Given the description of an element on the screen output the (x, y) to click on. 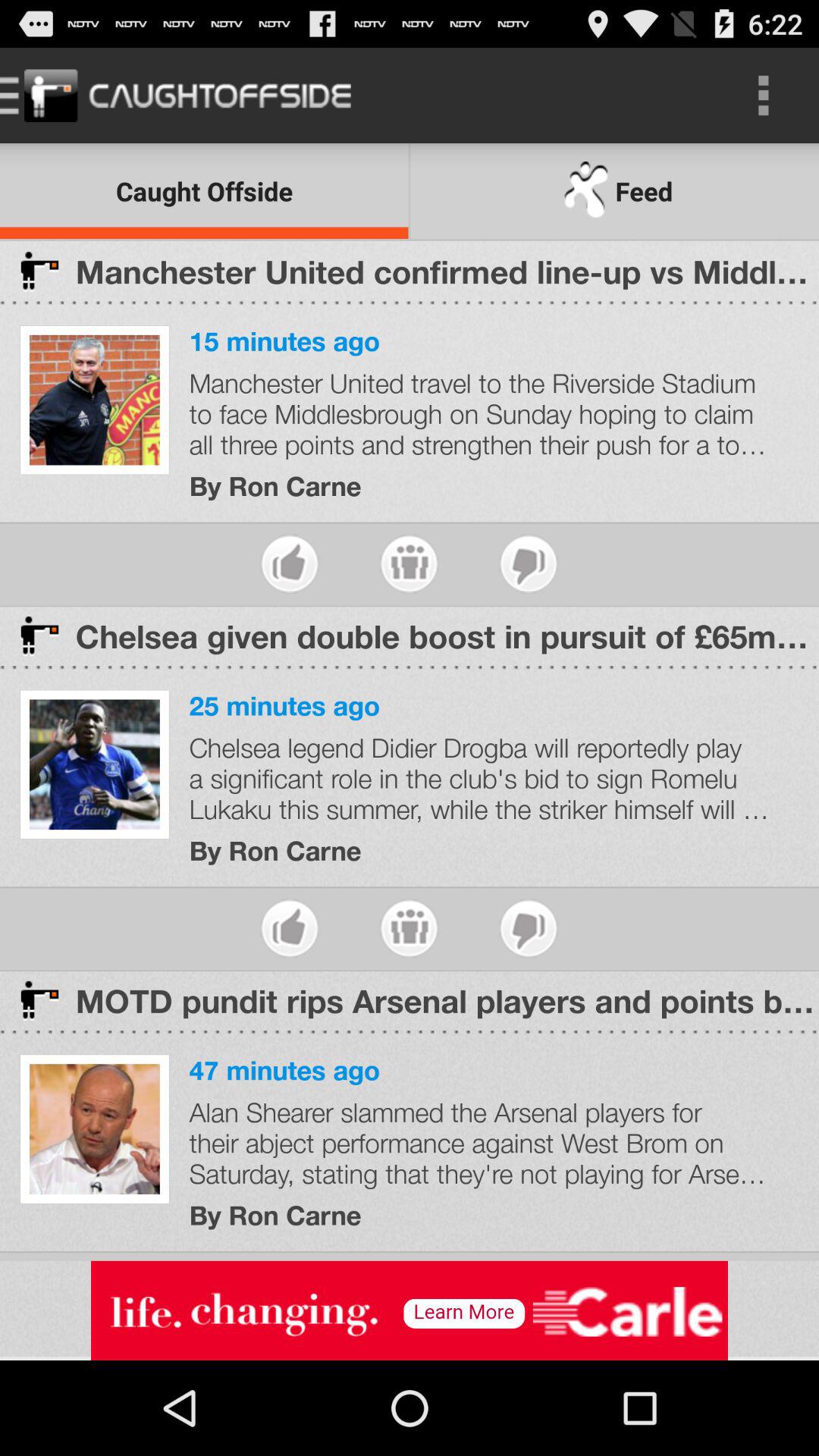
rate as thumbs down (528, 928)
